Given the description of an element on the screen output the (x, y) to click on. 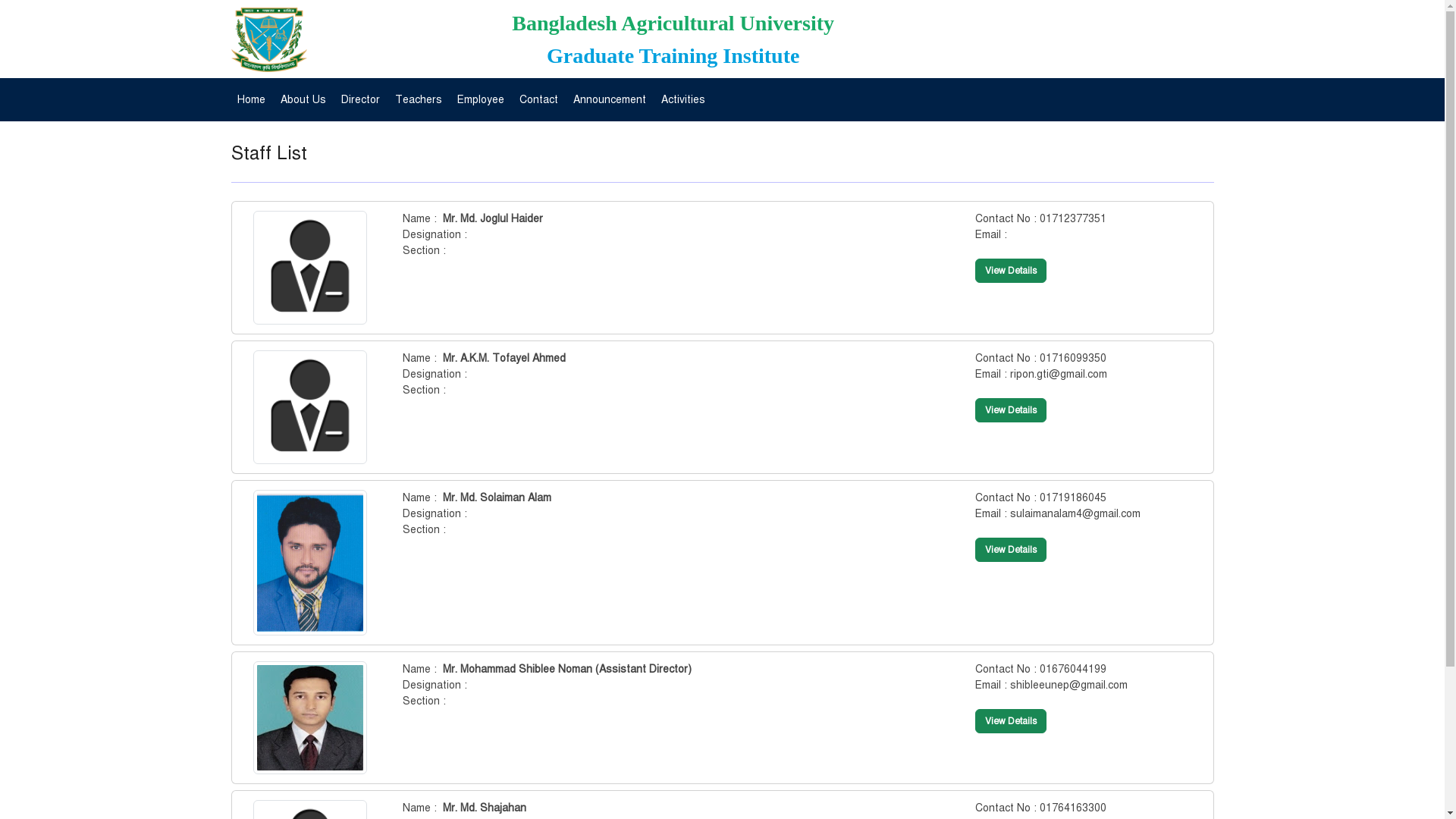
About Us Element type: text (303, 99)
Teachers Element type: text (417, 99)
Activities Element type: text (683, 99)
Bangladesh Agricultural University Element type: text (672, 22)
View Details Element type: text (1010, 410)
View Details Element type: text (1010, 549)
Director Element type: text (360, 99)
Home Element type: text (250, 99)
View Details Element type: text (1010, 721)
Contact Element type: text (537, 99)
View Details Element type: text (1010, 270)
Announcement Element type: text (609, 99)
Employee Element type: text (479, 99)
